Given the description of an element on the screen output the (x, y) to click on. 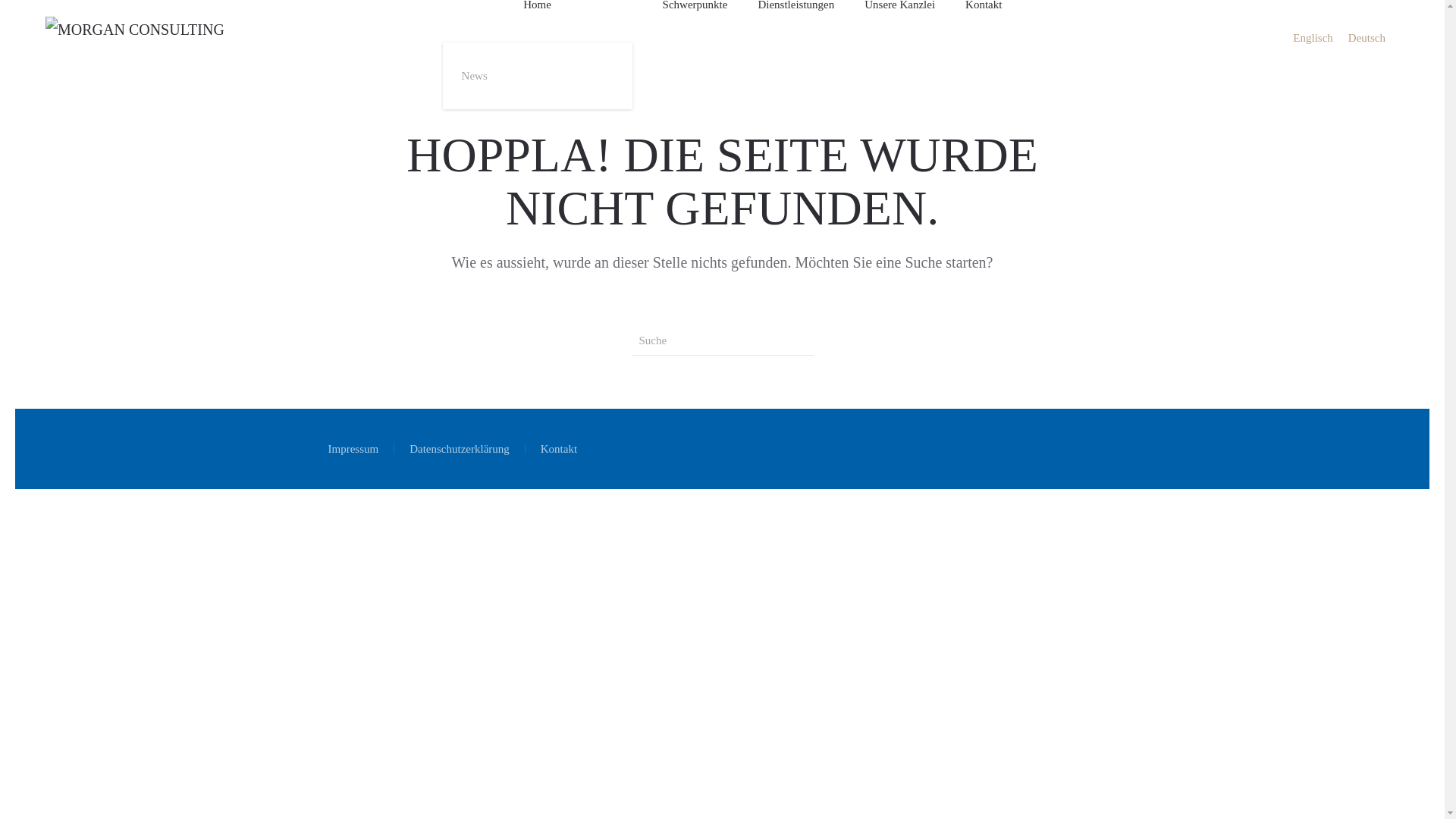
Englisch Element type: text (1312, 38)
Deutsch Element type: text (1366, 38)
Kontakt Element type: text (558, 448)
News Element type: text (537, 75)
Impressum Element type: text (352, 448)
